Given the description of an element on the screen output the (x, y) to click on. 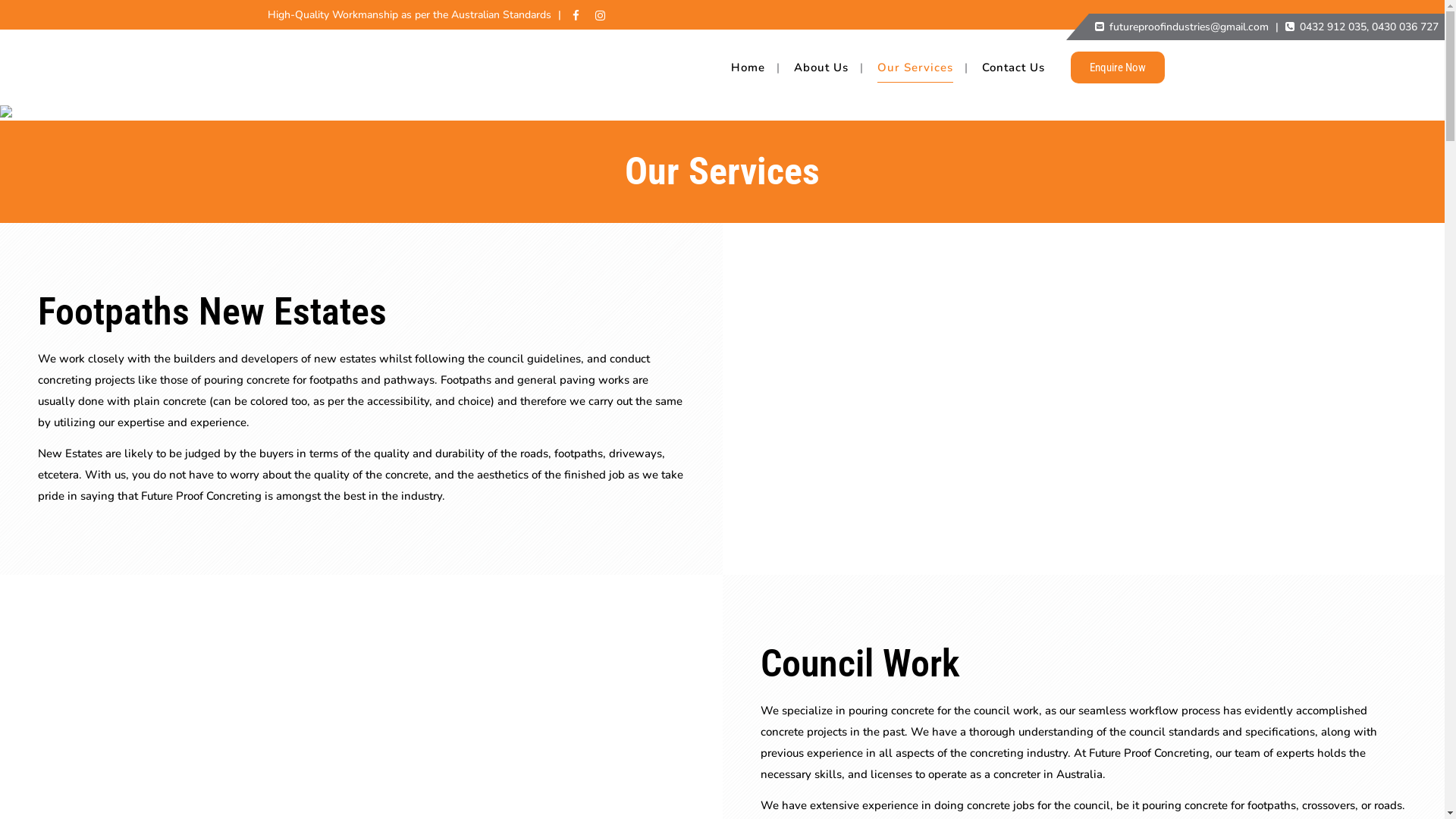
futureproofindustries@gmail.com Element type: text (1188, 26)
About Us Element type: text (821, 67)
Home Element type: text (747, 67)
0432 912 035 Element type: text (1332, 26)
Contact Us Element type: text (1013, 67)
Our Services Element type: text (915, 67)
Enquire Now Element type: text (1117, 67)
0430 036 727 Element type: text (1404, 26)
